Given the description of an element on the screen output the (x, y) to click on. 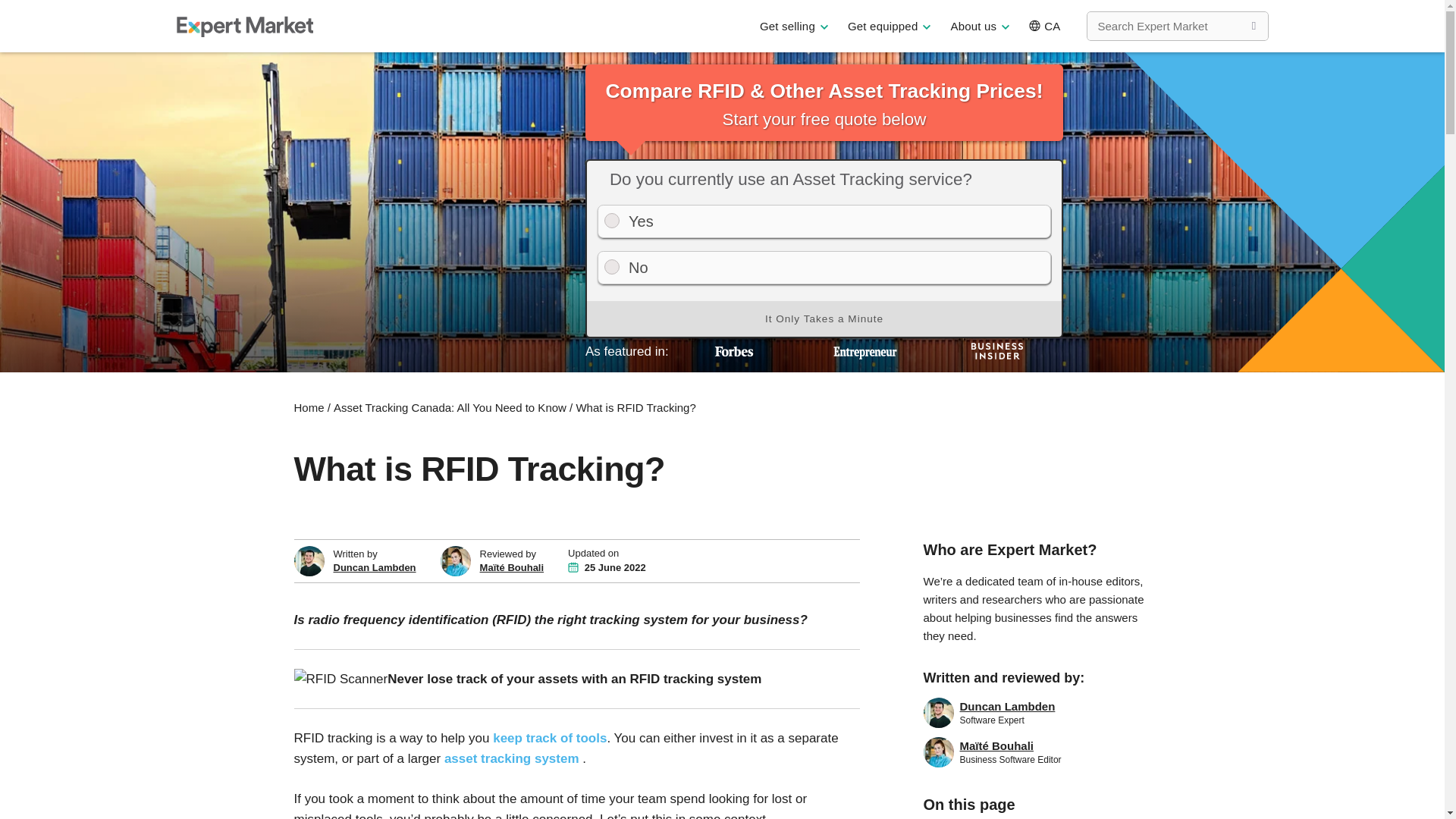
About us (979, 25)
ExpertMarket (244, 25)
CA (1043, 25)
Get equipped (888, 25)
Get selling (794, 25)
